Given the description of an element on the screen output the (x, y) to click on. 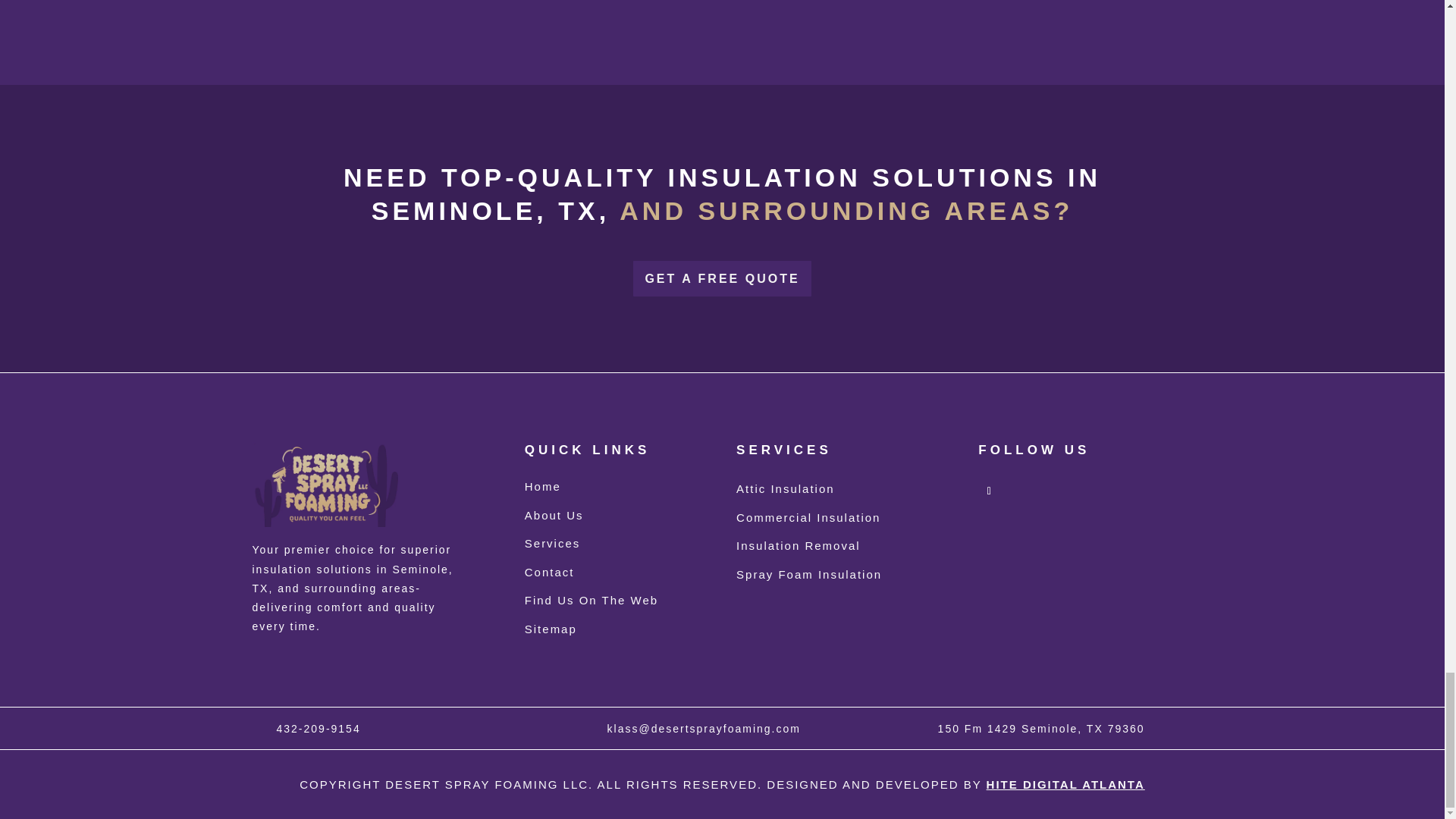
Contact (549, 571)
Services (552, 543)
Commercial Insulation (808, 517)
About Us (553, 514)
Spray Foam Insulation (809, 574)
desert-spray-foam-logo (327, 484)
Follow on Facebook (988, 491)
Home (542, 486)
GET A FREE QUOTE (721, 278)
Sitemap (550, 628)
